Given the description of an element on the screen output the (x, y) to click on. 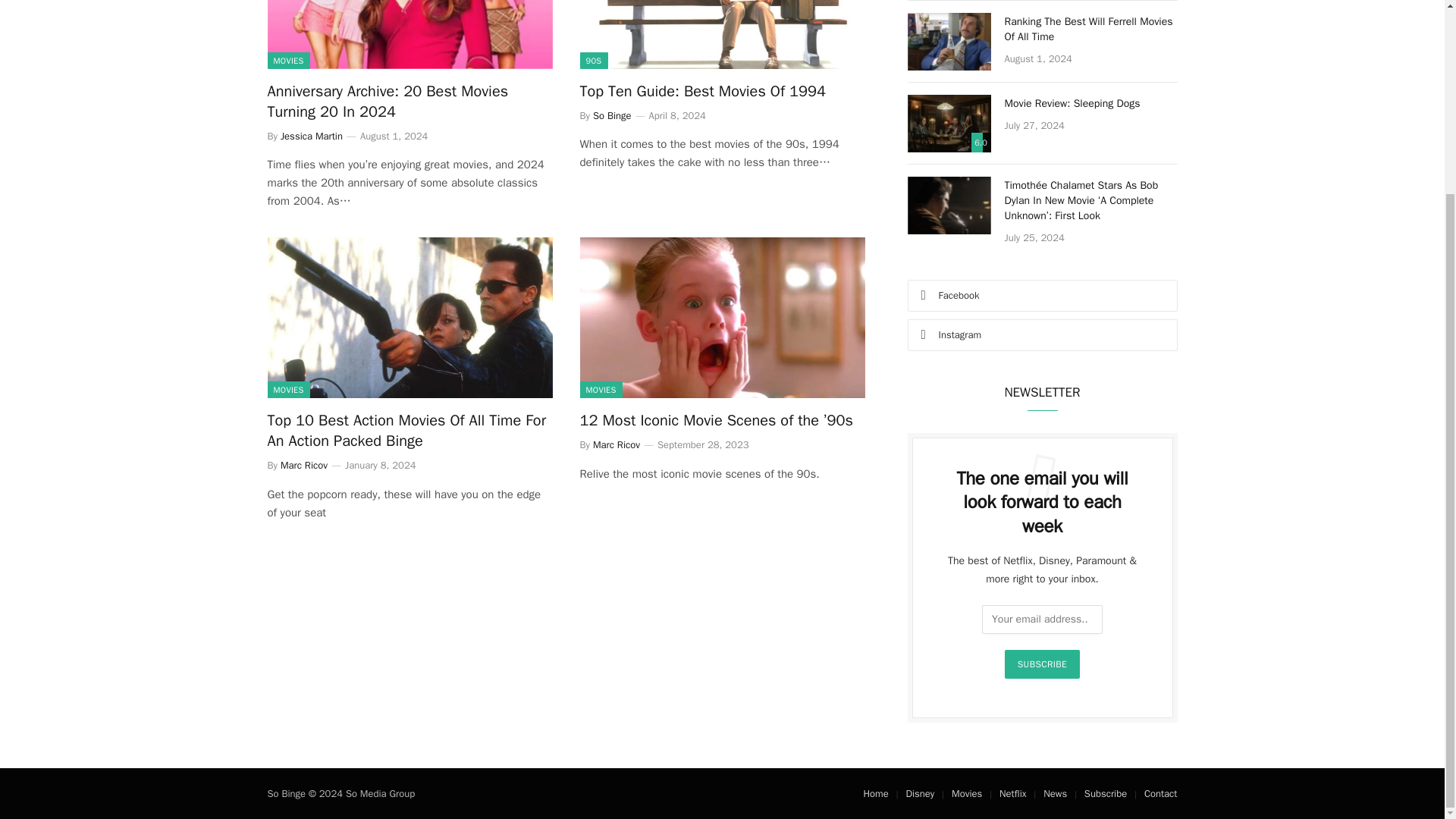
Anniversary Archive: 20 Best Movies Turning 20 In 2024 (408, 101)
Top Ten Guide: Best Movies Of 1994 (721, 34)
Subscribe (1042, 664)
So Binge (611, 115)
Posts by Jessica Martin (311, 135)
Posts by Marc Ricov (304, 464)
Top Ten Guide: Best Movies Of 1994 (721, 91)
Jessica Martin (311, 135)
MOVIES (287, 389)
